Given the description of an element on the screen output the (x, y) to click on. 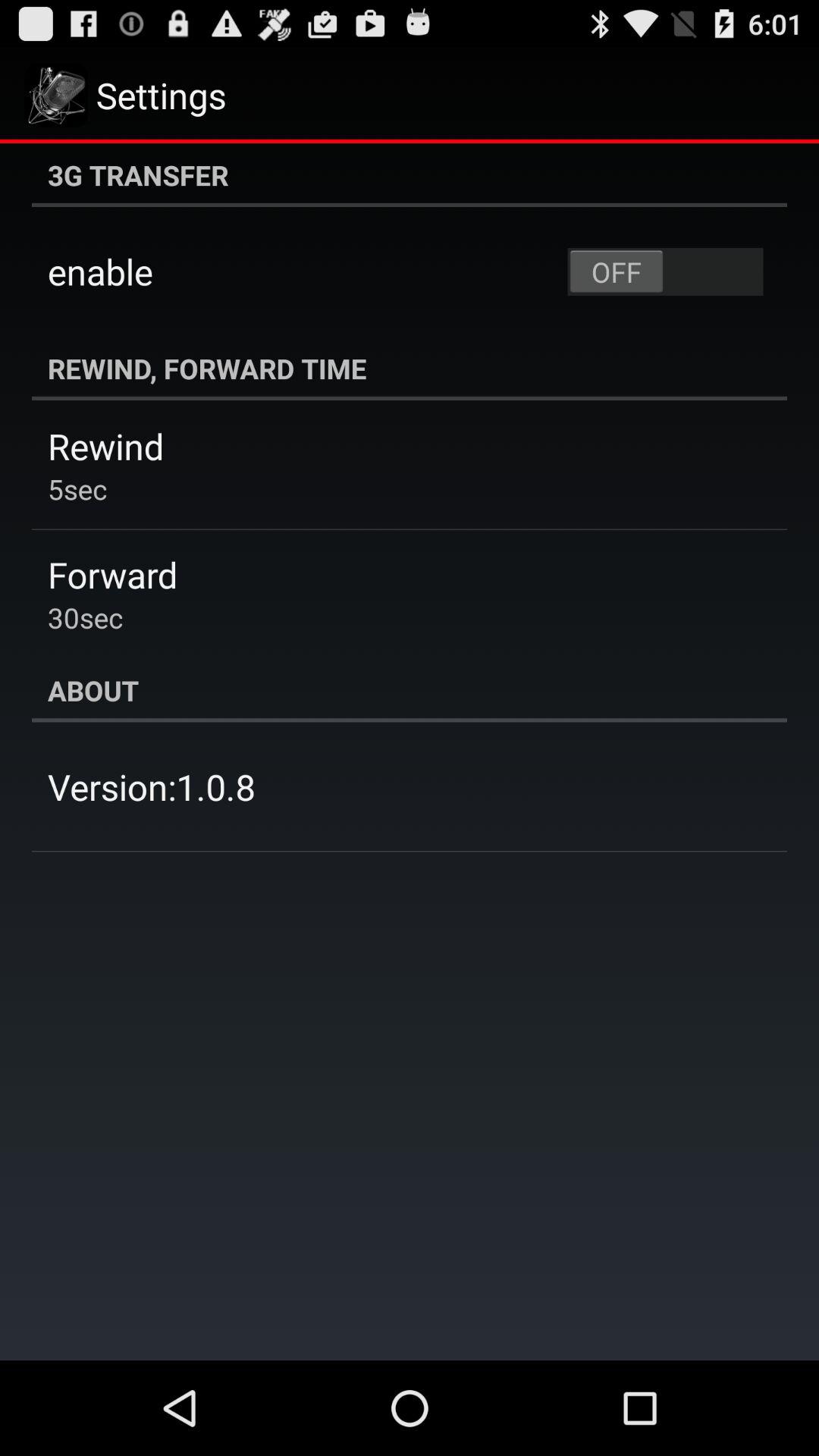
turn on the icon to the right of enable icon (665, 271)
